Given the description of an element on the screen output the (x, y) to click on. 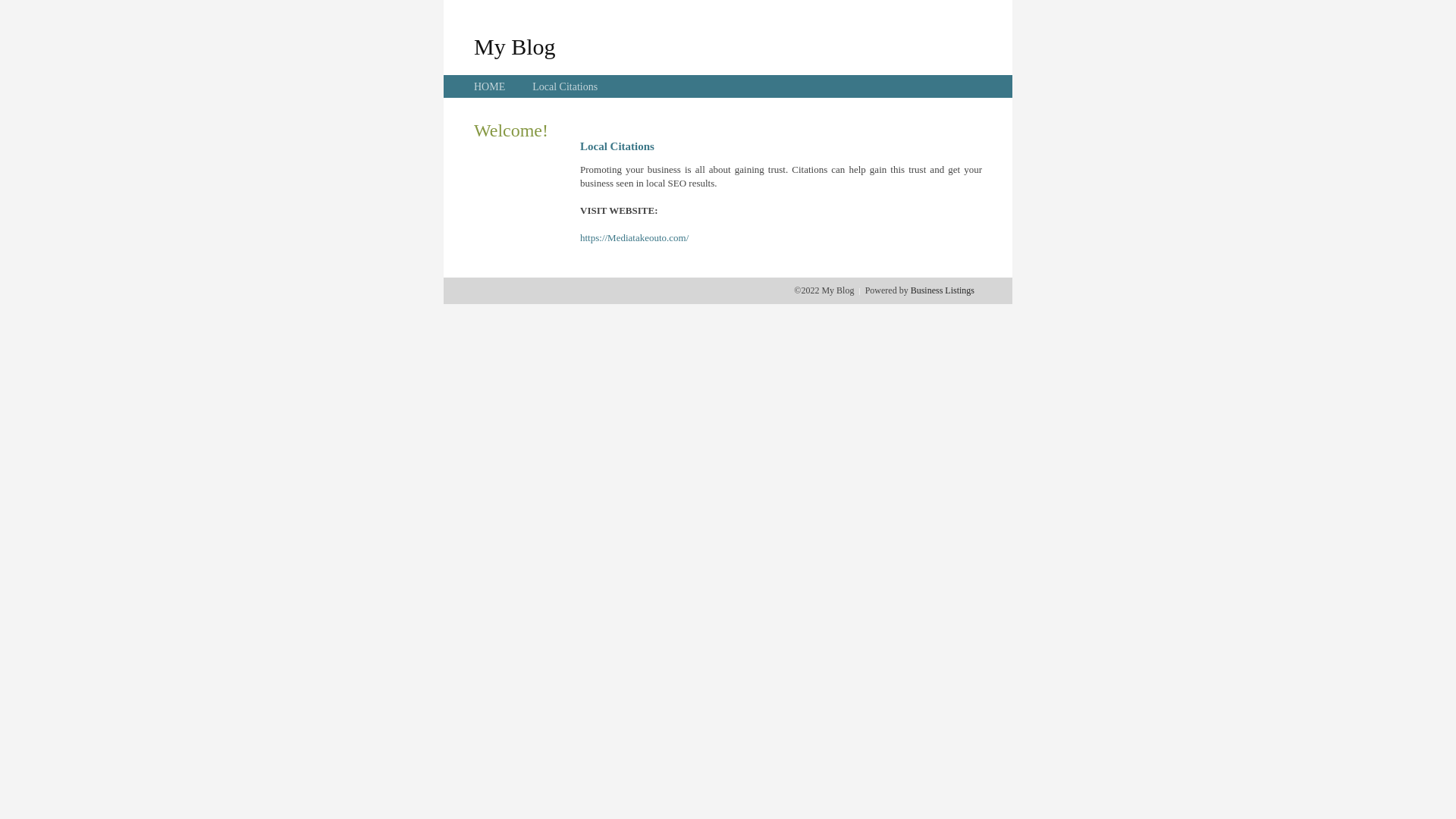
Business Listings Element type: text (942, 290)
https://Mediatakeouto.com/ Element type: text (634, 237)
My Blog Element type: text (514, 46)
HOME Element type: text (489, 86)
Local Citations Element type: text (564, 86)
